Given the description of an element on the screen output the (x, y) to click on. 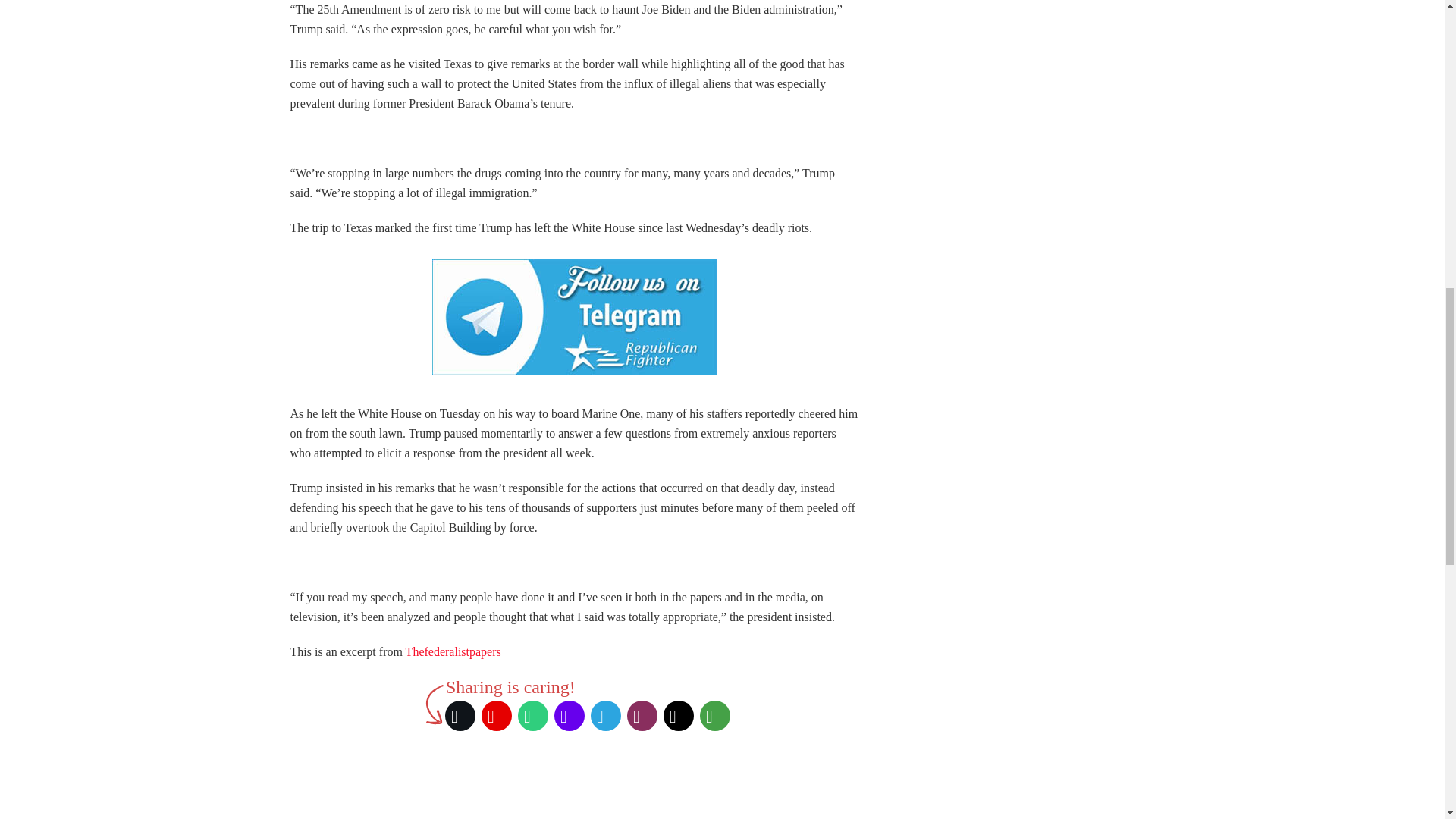
Threads (679, 715)
Parler (642, 715)
Telegram (606, 715)
Truth Social (569, 715)
Thefederalistpapers (453, 651)
More Options (715, 715)
Gab (533, 715)
GETTR (497, 715)
